Given the description of an element on the screen output the (x, y) to click on. 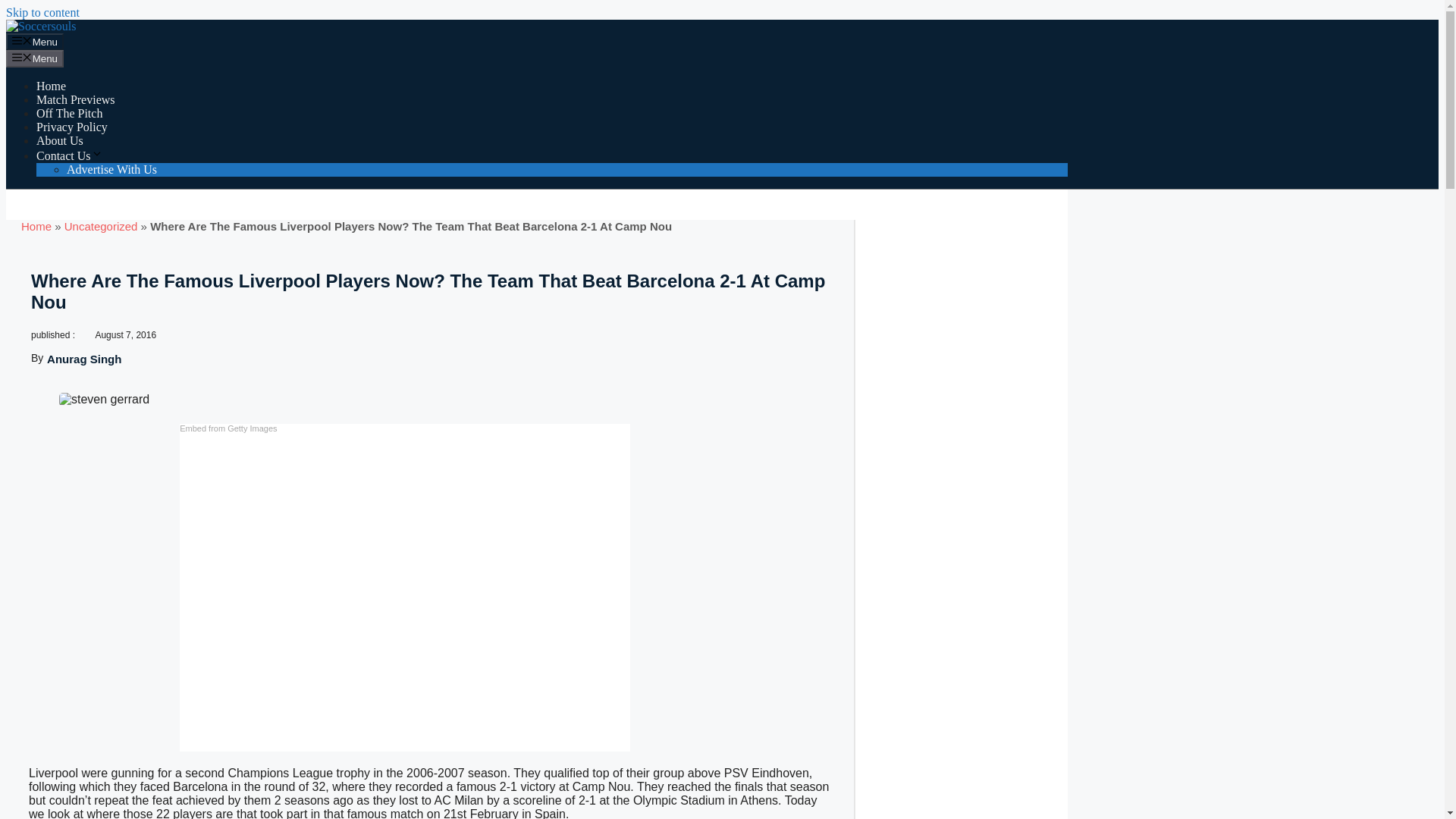
Contact Us (69, 155)
Off The Pitch (68, 113)
Privacy Policy (71, 126)
Skip to content (42, 11)
Menu (34, 41)
Embed from Getty Images (227, 428)
Skip to content (42, 11)
Home (35, 226)
Match Previews (75, 99)
Anurag Singh (83, 358)
